Given the description of an element on the screen output the (x, y) to click on. 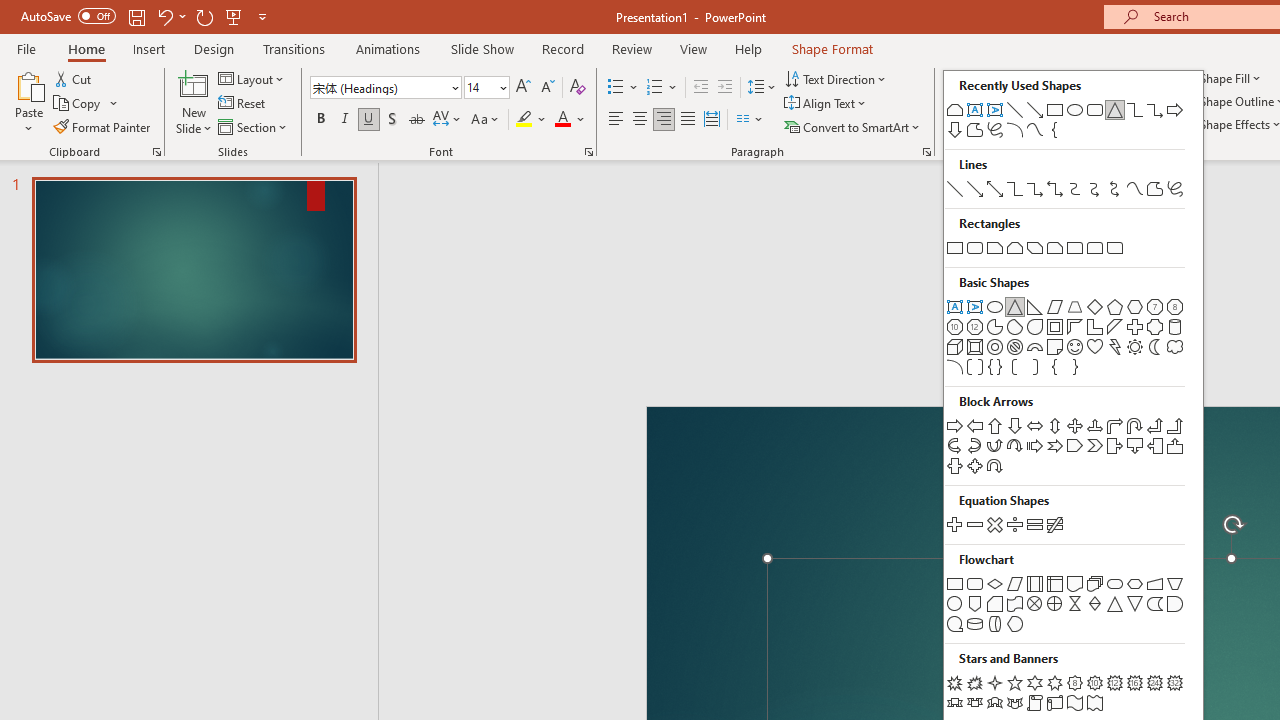
Decrease Font Size (547, 87)
Align Text (826, 103)
Italic (344, 119)
Format Painter (103, 126)
Increase Font Size (522, 87)
Justify (687, 119)
